Given the description of an element on the screen output the (x, y) to click on. 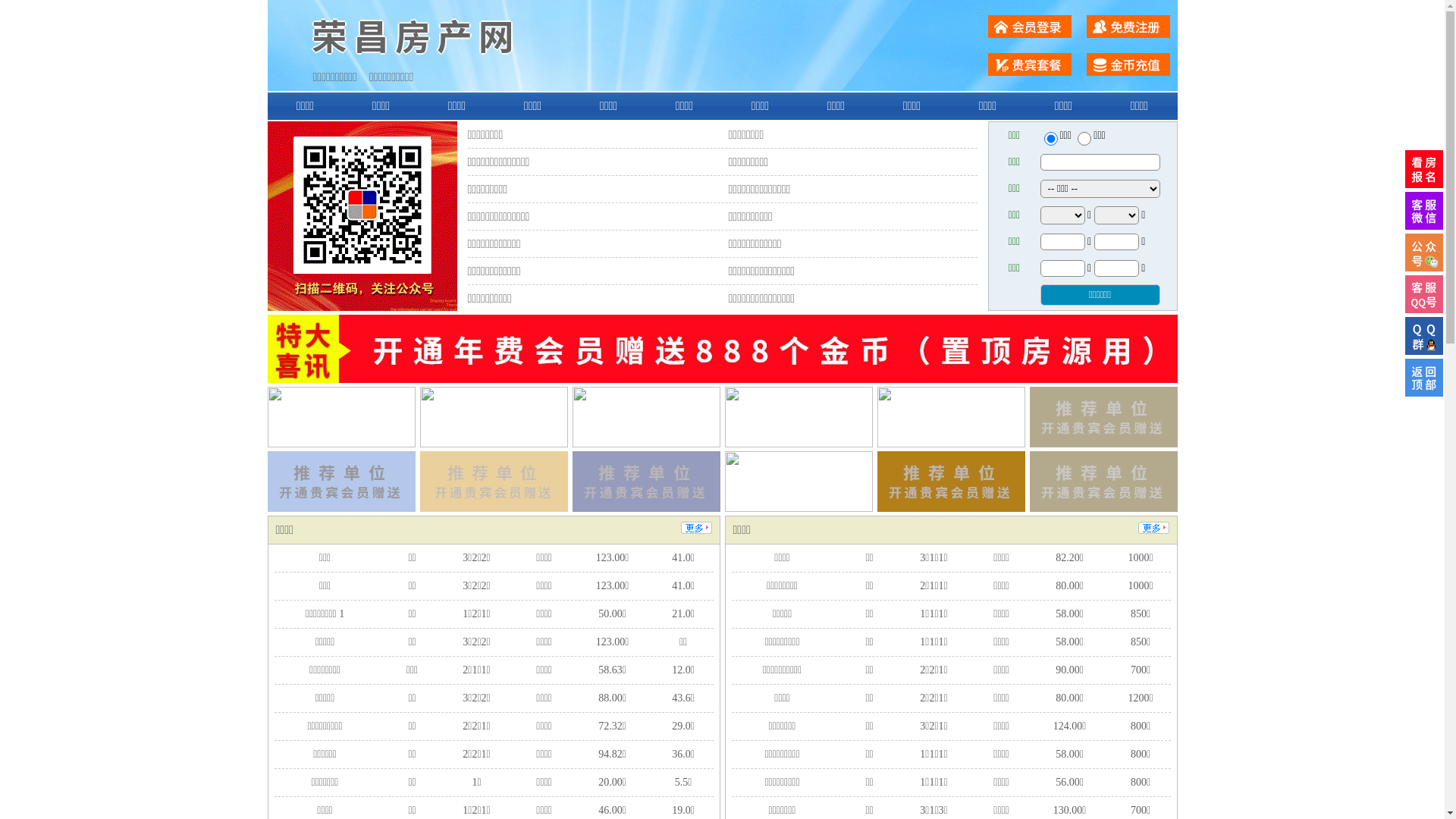
ershou Element type: text (1050, 138)
chuzu Element type: text (1084, 138)
